Given the description of an element on the screen output the (x, y) to click on. 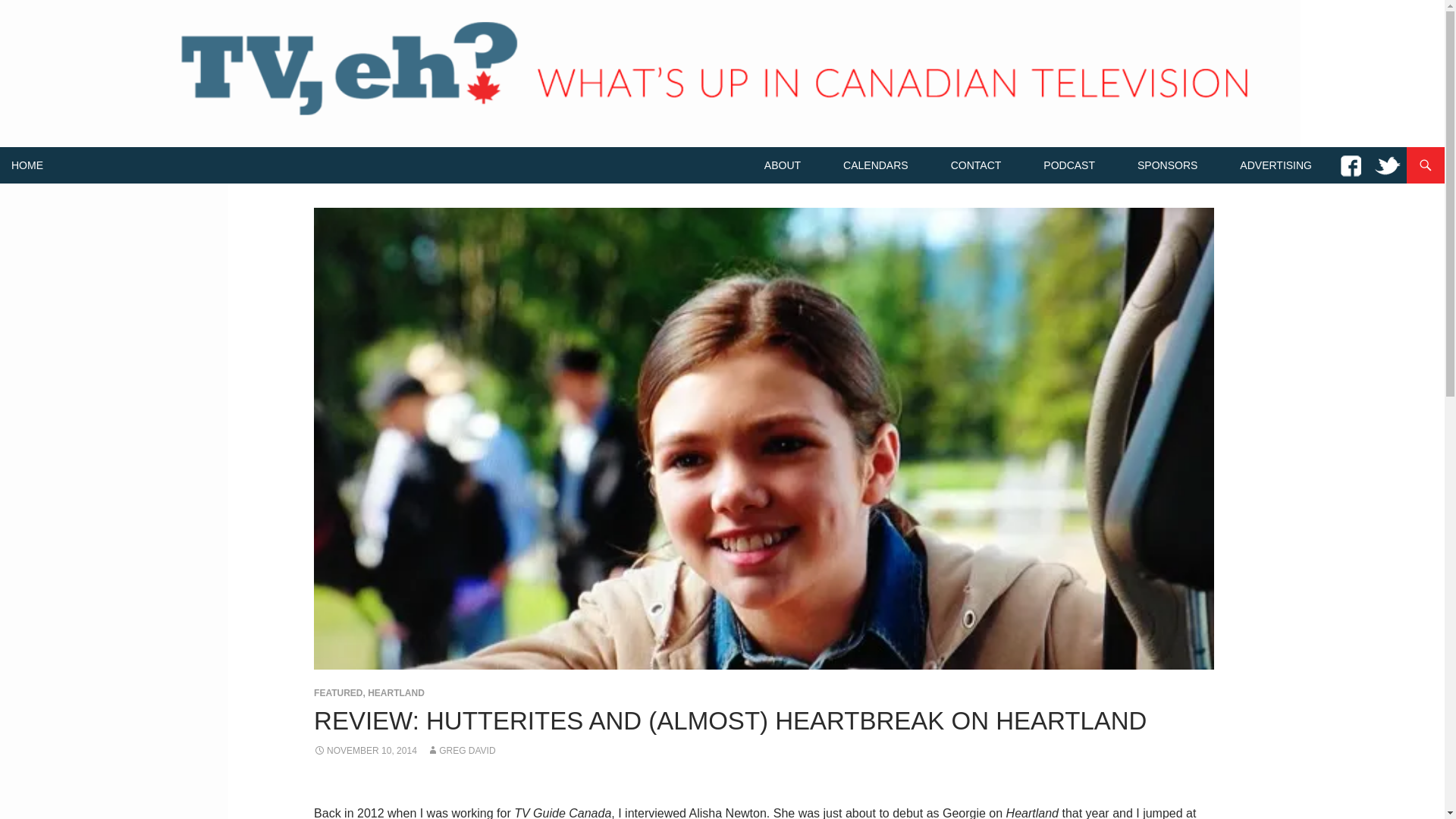
NOVEMBER 10, 2014 (365, 750)
CONTACT (976, 165)
PODCAST (1068, 165)
FEATURED (338, 692)
GREG DAVID (460, 750)
HOME (27, 165)
ABOUT (782, 165)
HEARTLAND (396, 692)
CALENDARS (875, 165)
ADVERTISING (1275, 165)
SPONSORS (1167, 165)
